Given the description of an element on the screen output the (x, y) to click on. 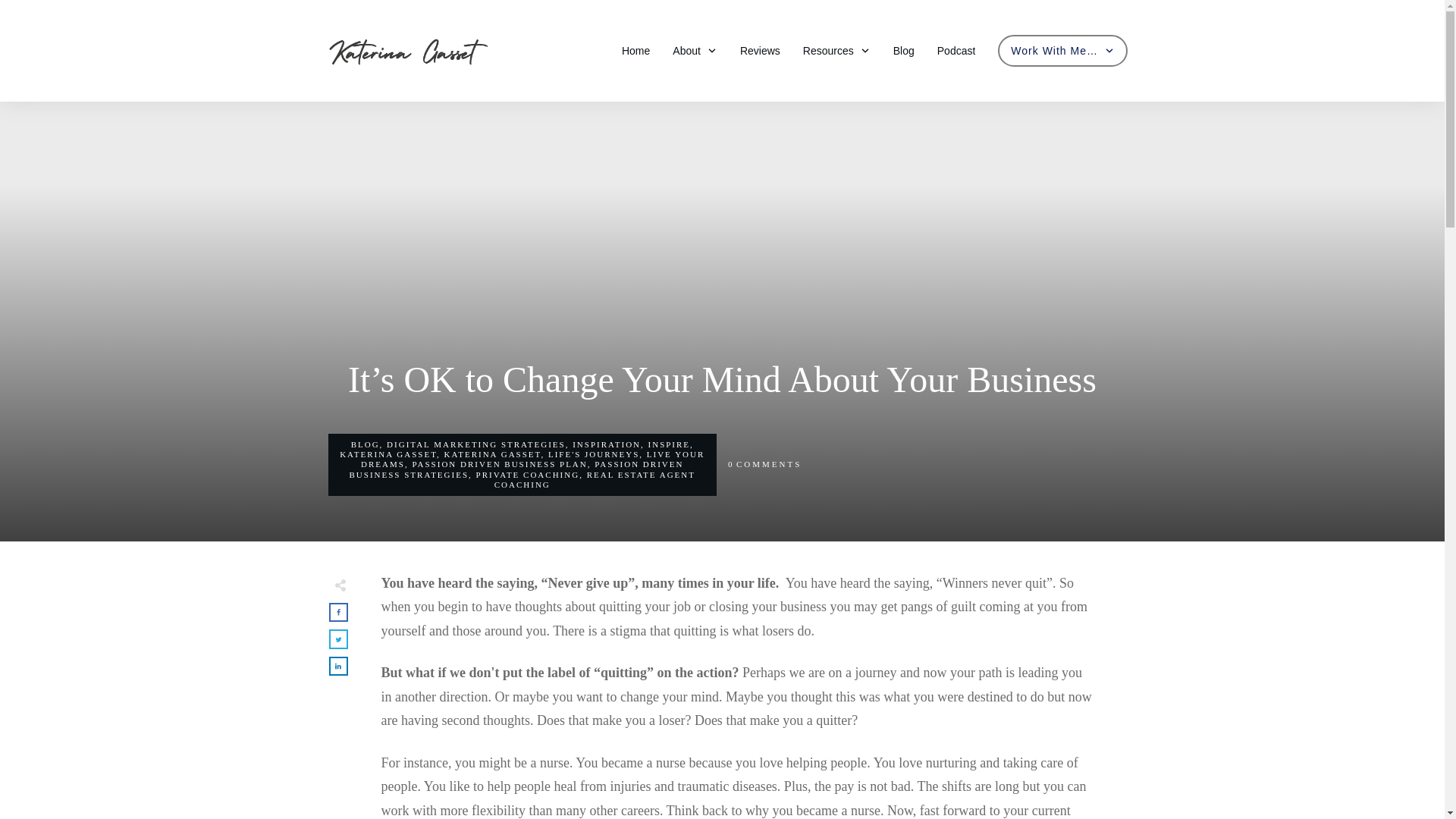
Home (635, 50)
Katerina Gasset (387, 453)
Passion Driven Business Plan (499, 463)
Digital Marketing Strategies (476, 443)
KATERINA GASSET (492, 453)
INSPIRATION (606, 443)
Inspiration (606, 443)
About (694, 50)
Inspire (668, 443)
KATERINA GASSET (387, 453)
Passion Driven Business Strategies (516, 468)
BLOG (365, 443)
Life's Journeys (593, 453)
blog (365, 443)
INSPIRE (668, 443)
